Given the description of an element on the screen output the (x, y) to click on. 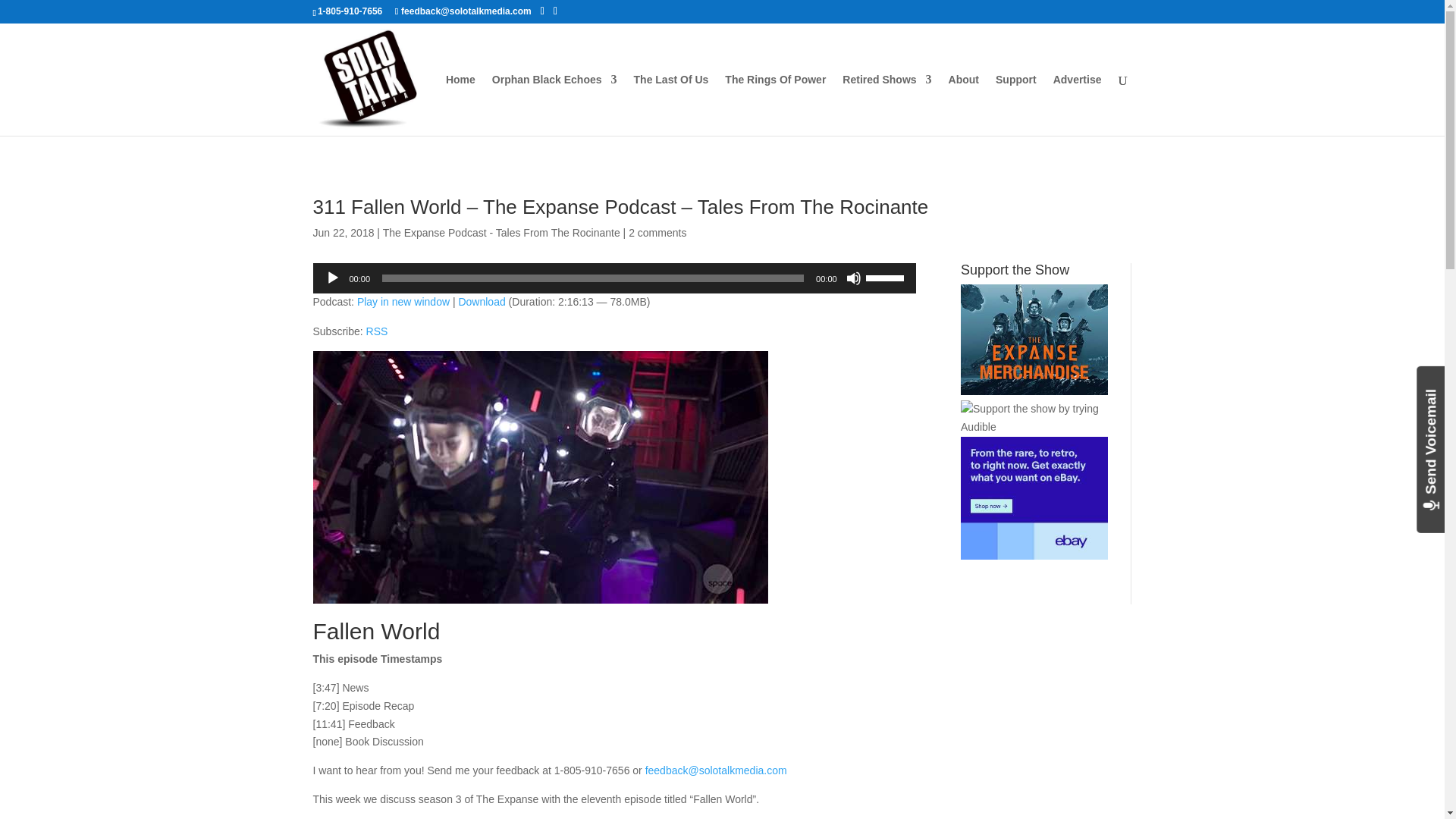
Mute (853, 278)
Play (331, 278)
Retired Shows (887, 104)
eBay (1034, 497)
Subscribe via RSS (377, 331)
Download (481, 301)
Orphan Black Echoes (554, 104)
Amazon (1034, 339)
Audible (1034, 418)
2 comments (656, 232)
